Given the description of an element on the screen output the (x, y) to click on. 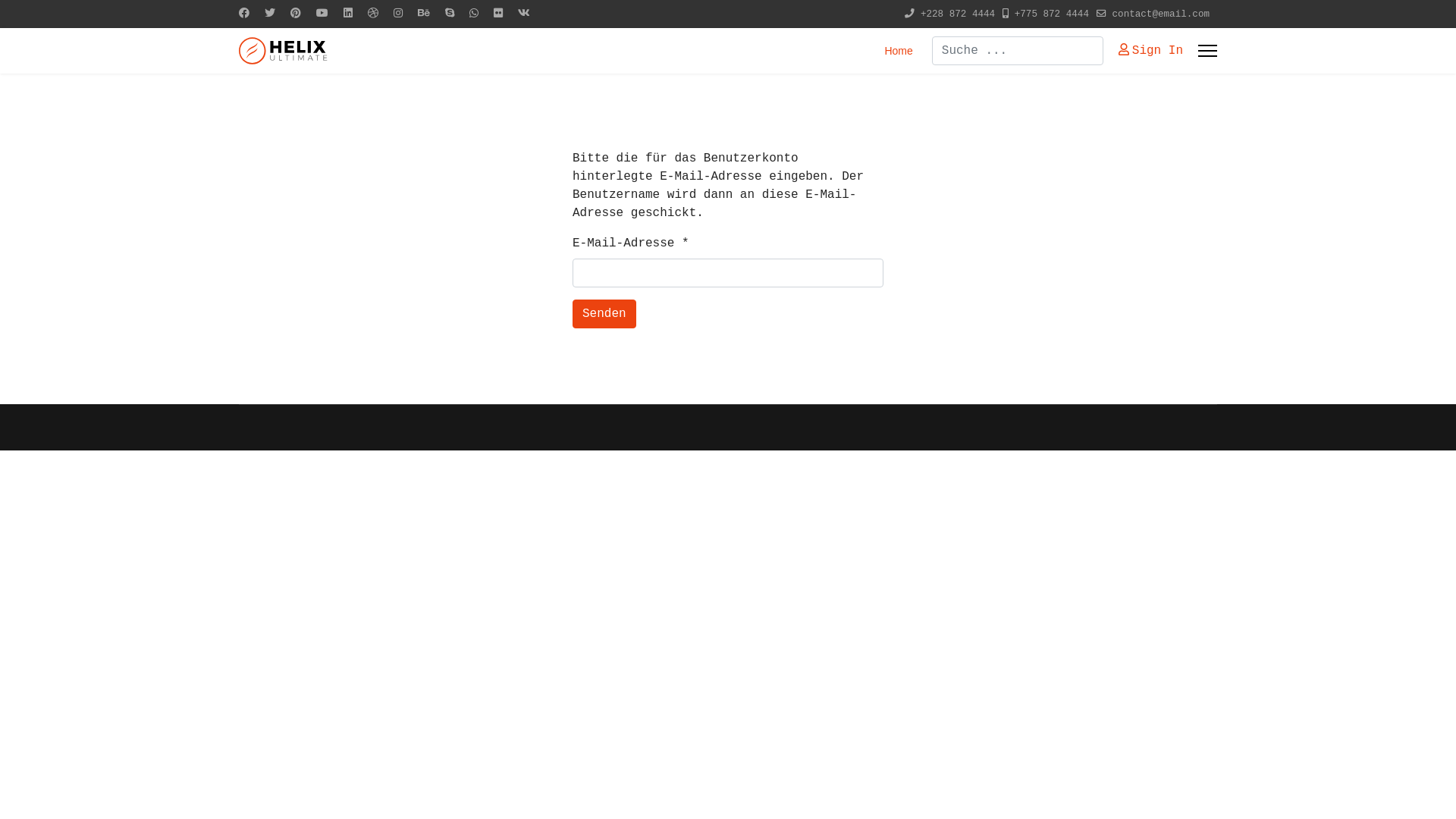
+228 872 4444 Element type: text (957, 14)
contact@email.com Element type: text (1160, 14)
Senden Element type: text (604, 313)
Home Element type: text (892, 50)
Sign In Element type: text (1150, 50)
Menu Element type: hover (1207, 50)
+775 872 4444 Element type: text (1051, 14)
